Given the description of an element on the screen output the (x, y) to click on. 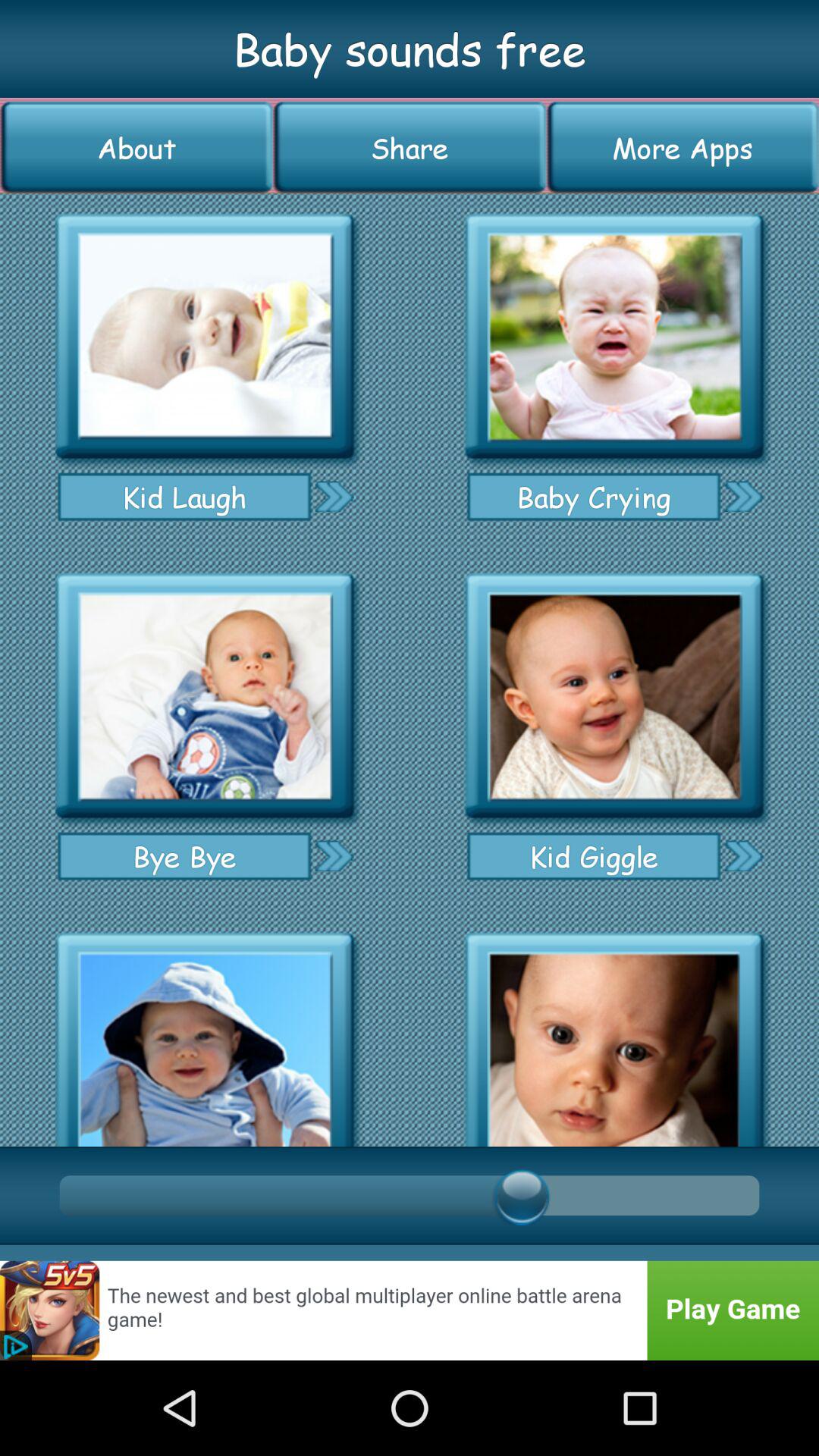
icon for kid giggle (613, 696)
